Given the description of an element on the screen output the (x, y) to click on. 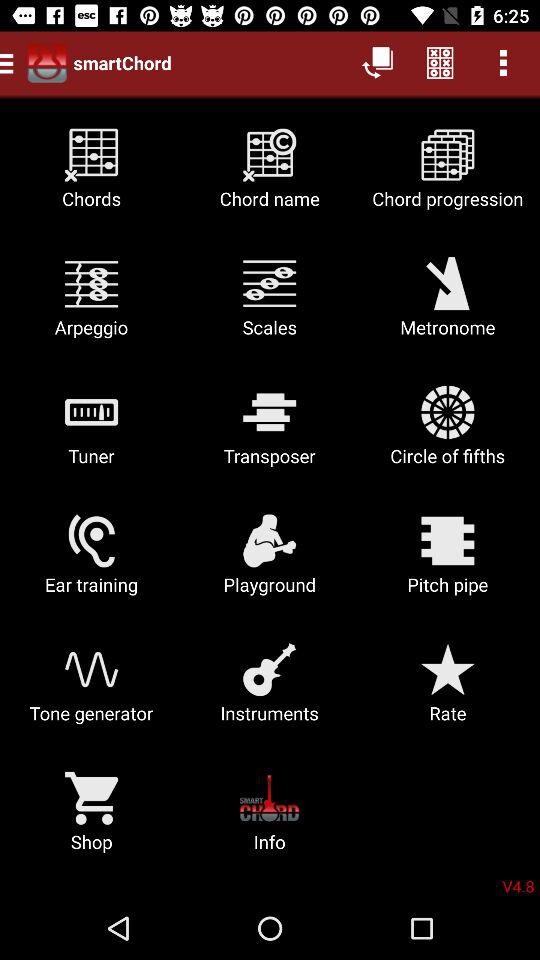
press icon below the ear training (269, 689)
